Given the description of an element on the screen output the (x, y) to click on. 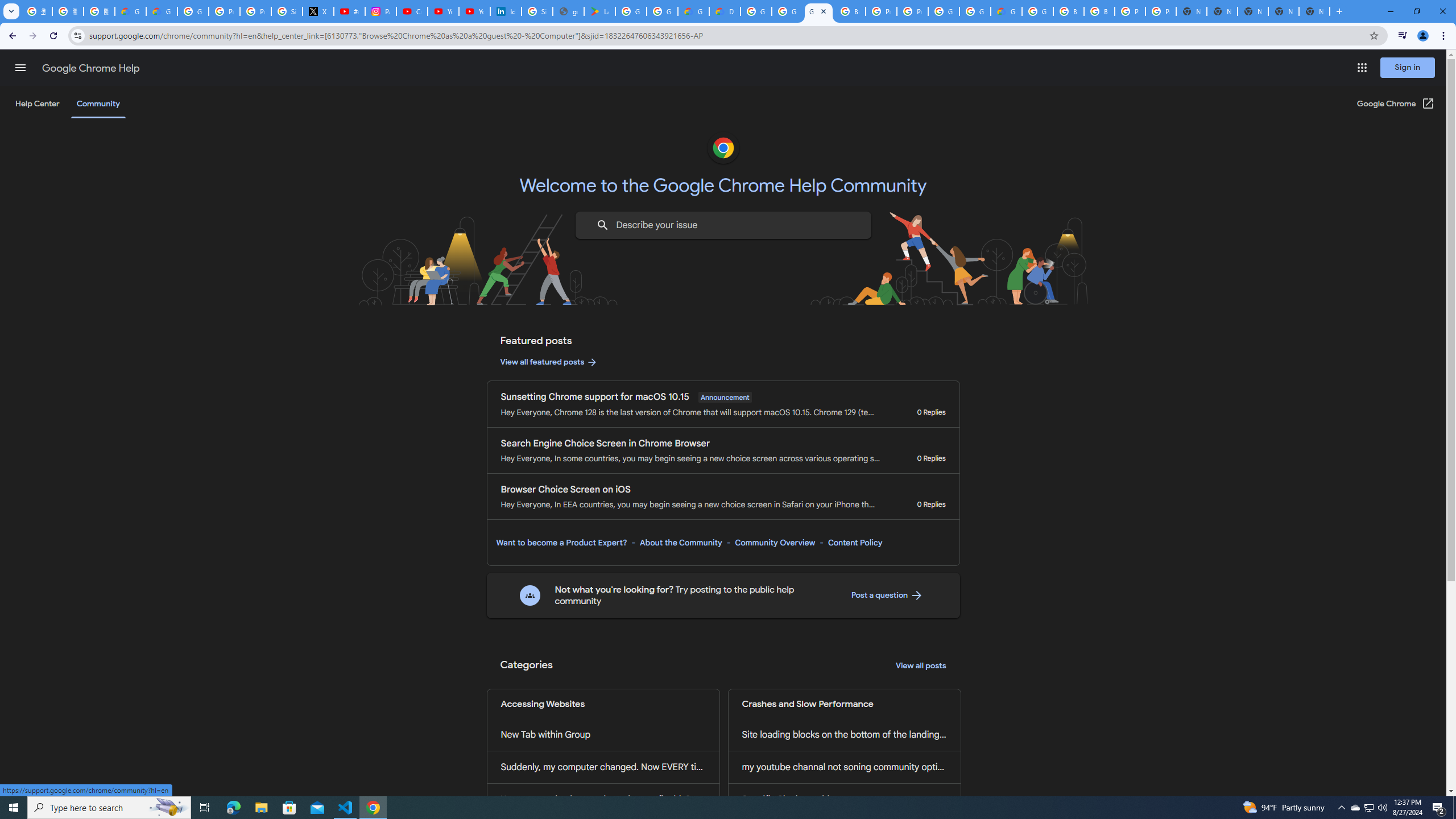
Forward (32, 35)
Google Cloud Platform (974, 11)
Close (823, 11)
Privacy Help Center - Policies Help (223, 11)
Google Workspace - Specific Terms (662, 11)
System (6, 6)
About the Community (680, 542)
Sign in (1407, 67)
Control your music, videos, and more (1402, 35)
Google Cloud Privacy Notice (130, 11)
Search (601, 225)
Browse Chrome as a guest - Computer - Google Chrome Help (1098, 11)
Post a question  (886, 595)
